Given the description of an element on the screen output the (x, y) to click on. 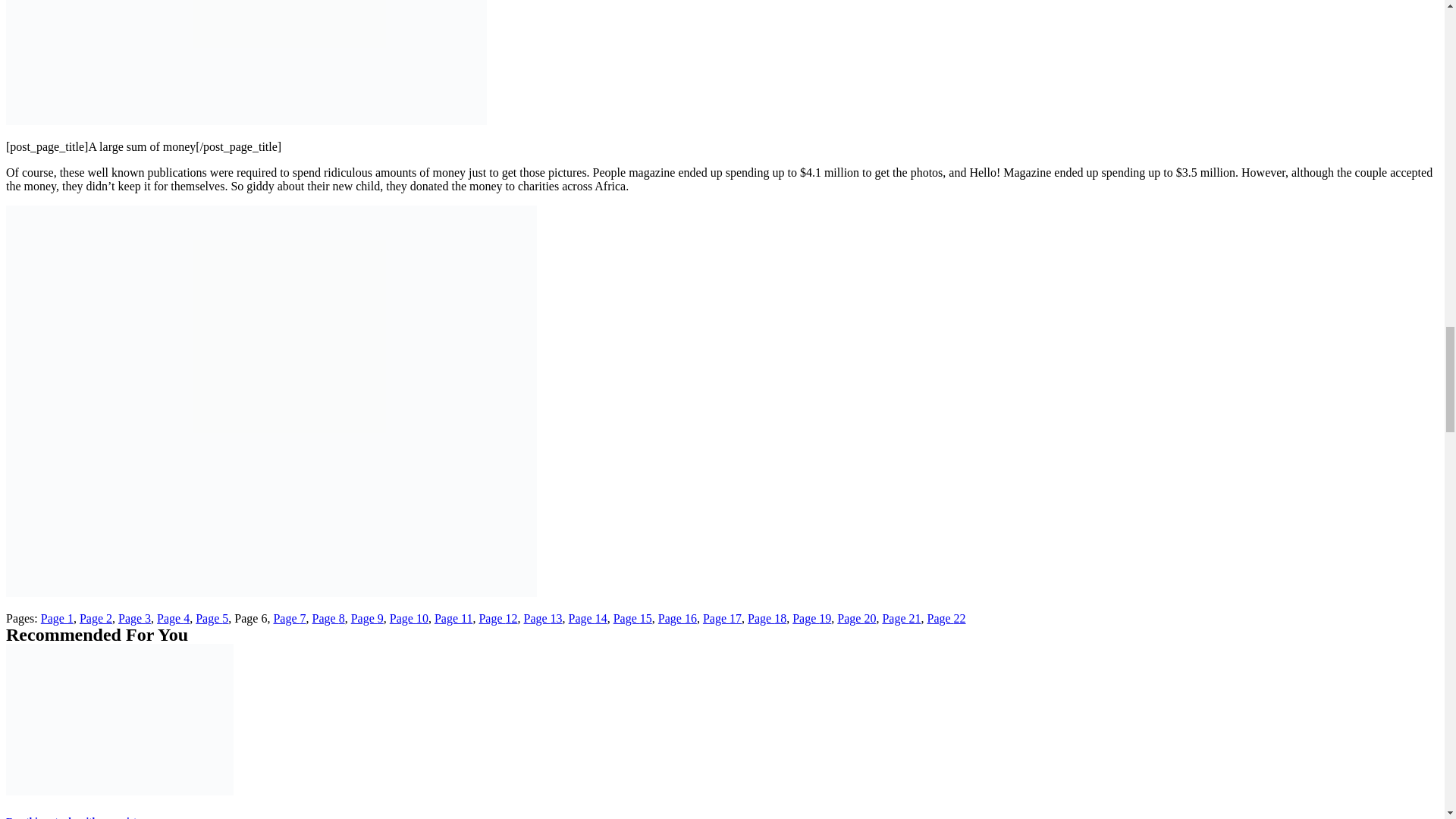
Page 17 (722, 617)
Page 1 (57, 617)
Page 22 (945, 617)
Fun things to do with your sister or mom (92, 816)
Page 4 (173, 617)
Page 14 (588, 617)
Page 15 (632, 617)
Page 3 (134, 617)
Page 10 (409, 617)
Page 11 (453, 617)
